Given the description of an element on the screen output the (x, y) to click on. 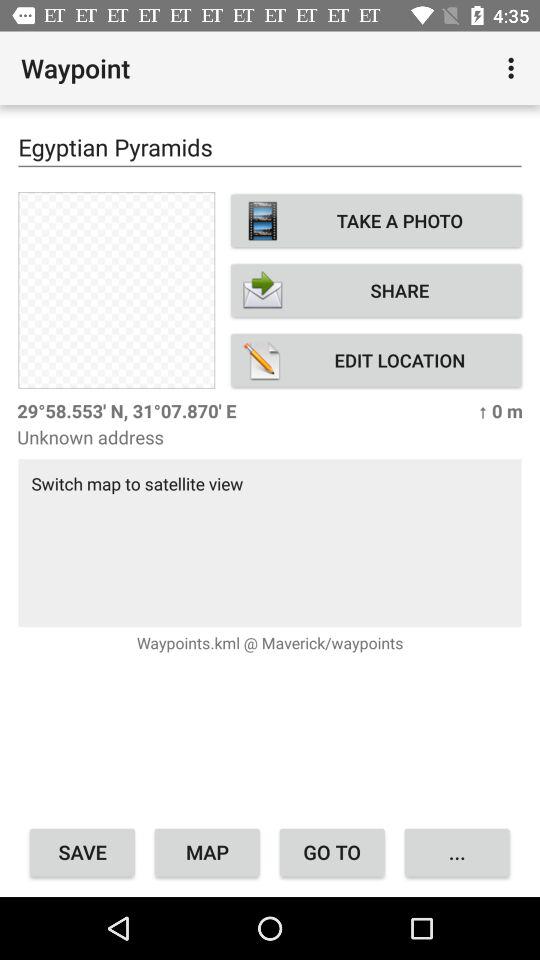
choose icon above waypoints kml maverick icon (269, 542)
